Given the description of an element on the screen output the (x, y) to click on. 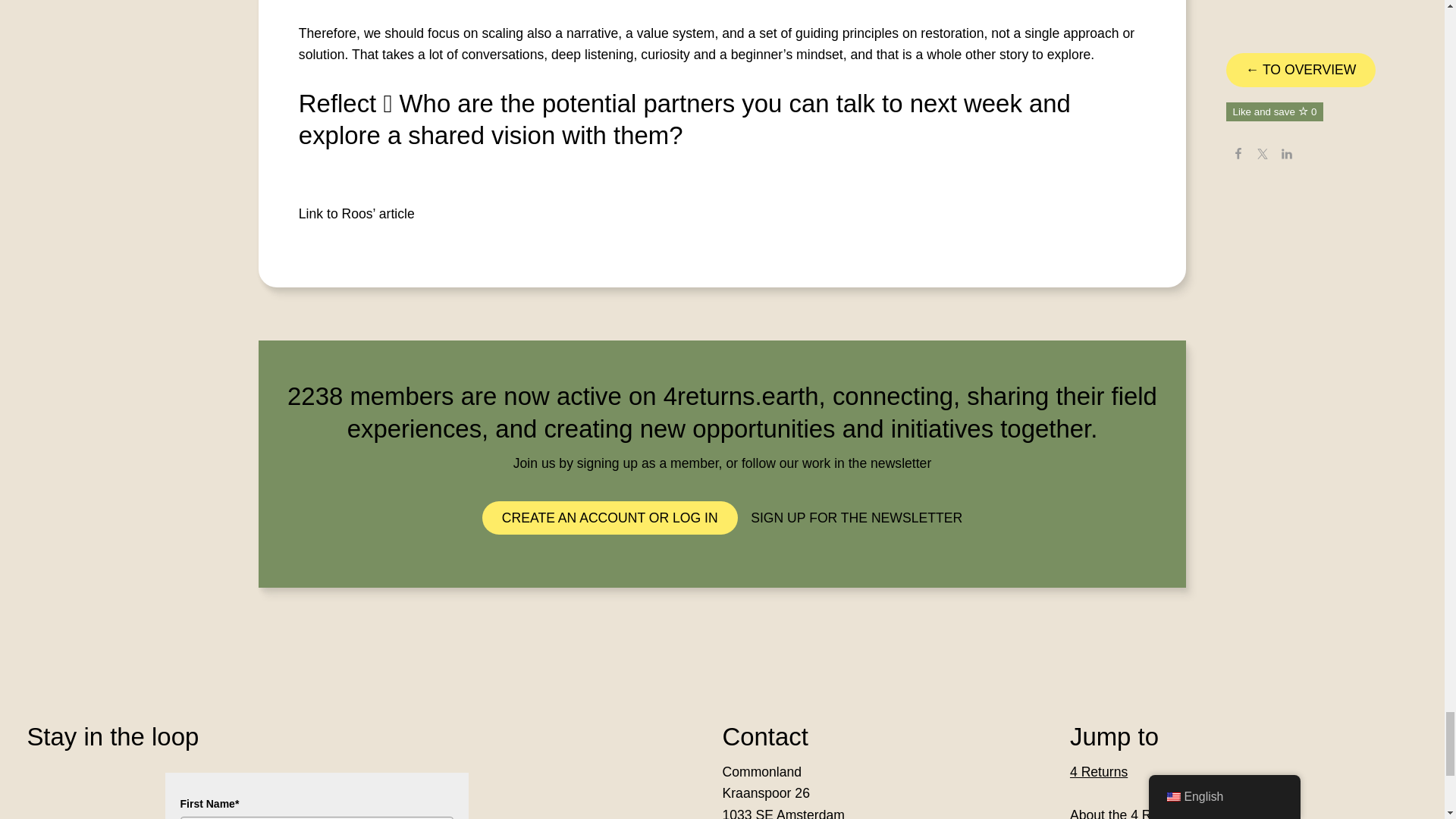
CREATE AN ACCOUNT OR LOG IN (609, 517)
SIGN UP FOR THE NEWSLETTER (856, 517)
About the 4 Returns Community (1164, 813)
4 Returns (1098, 771)
